Given the description of an element on the screen output the (x, y) to click on. 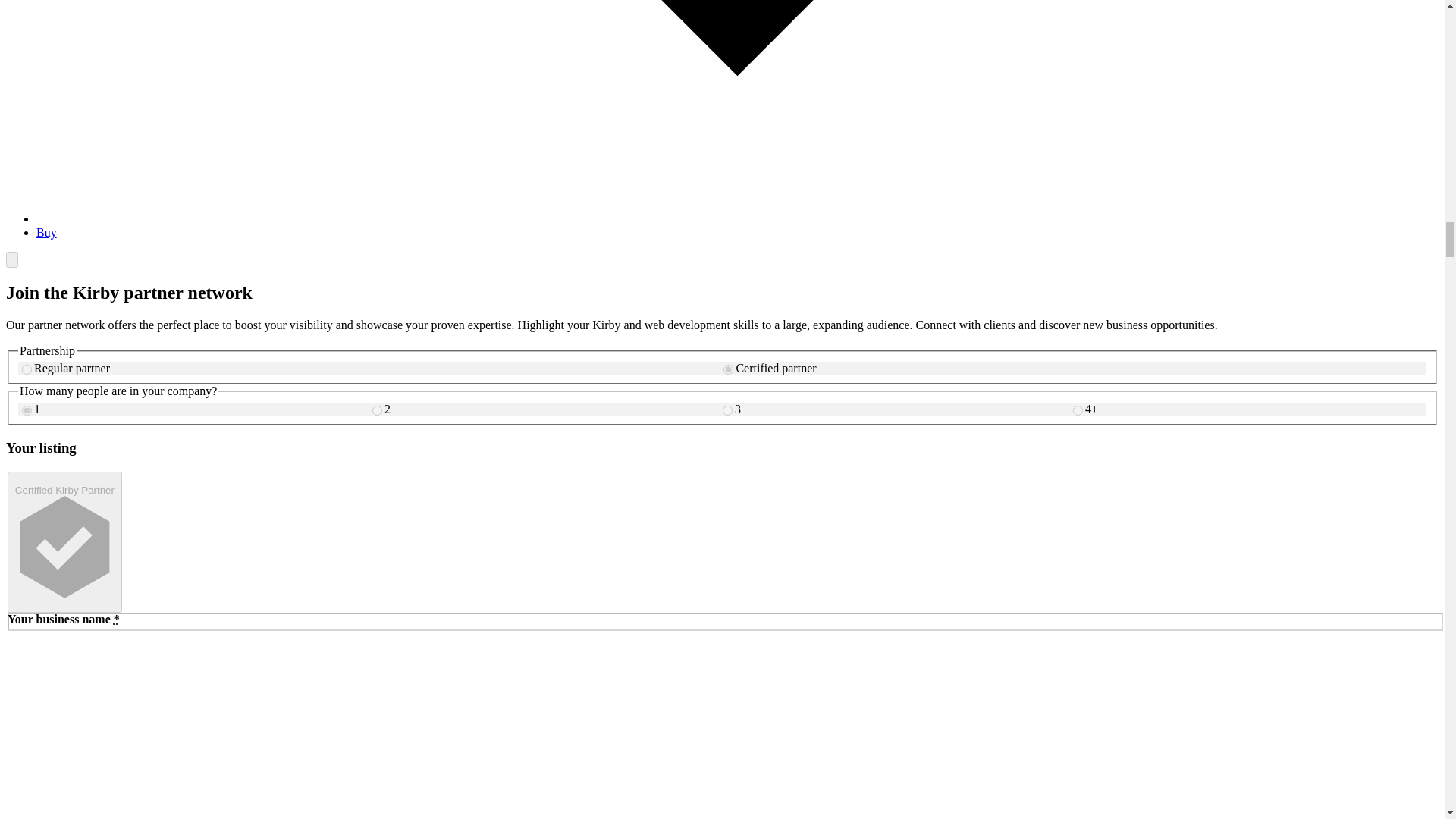
2 (376, 410)
regular (26, 369)
certified (728, 369)
3 (727, 410)
1 (26, 410)
Buy (46, 232)
